Given the description of an element on the screen output the (x, y) to click on. 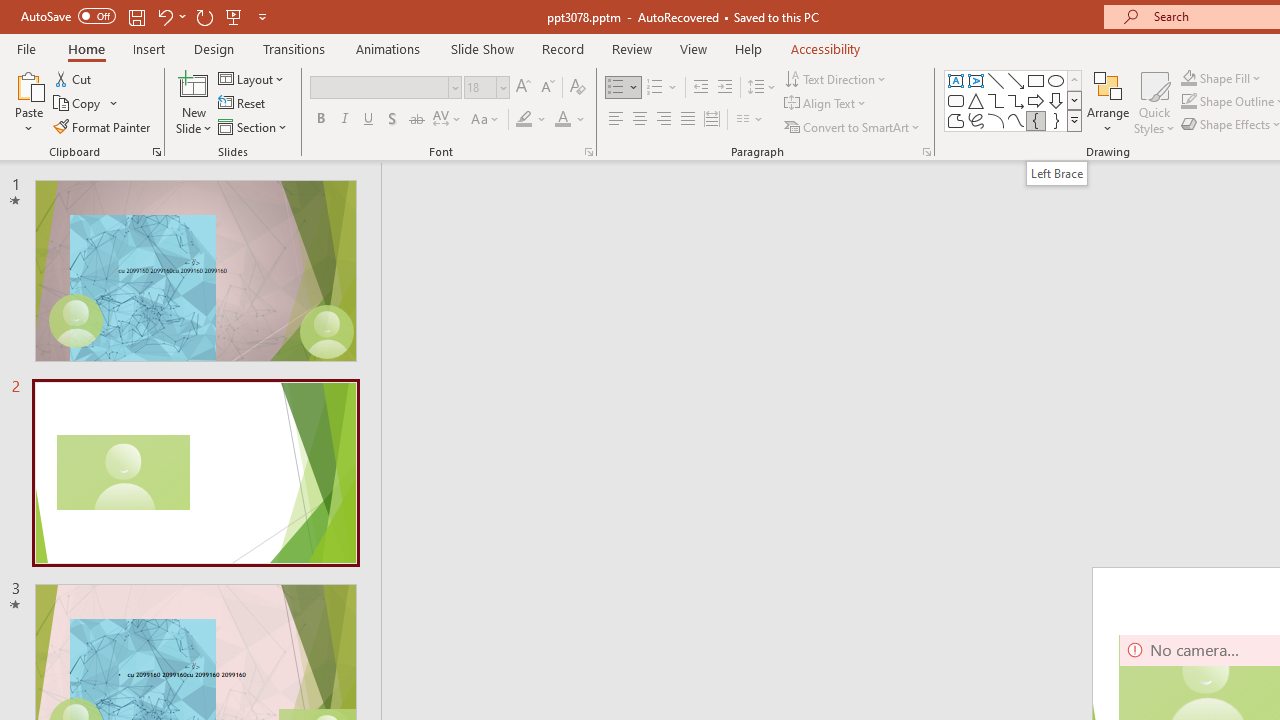
Font (385, 87)
Convert to SmartArt (853, 126)
Isosceles Triangle (975, 100)
Center (639, 119)
Line (995, 80)
Freeform: Scribble (975, 120)
Increase Indent (725, 87)
Paste (28, 84)
